Given the description of an element on the screen output the (x, y) to click on. 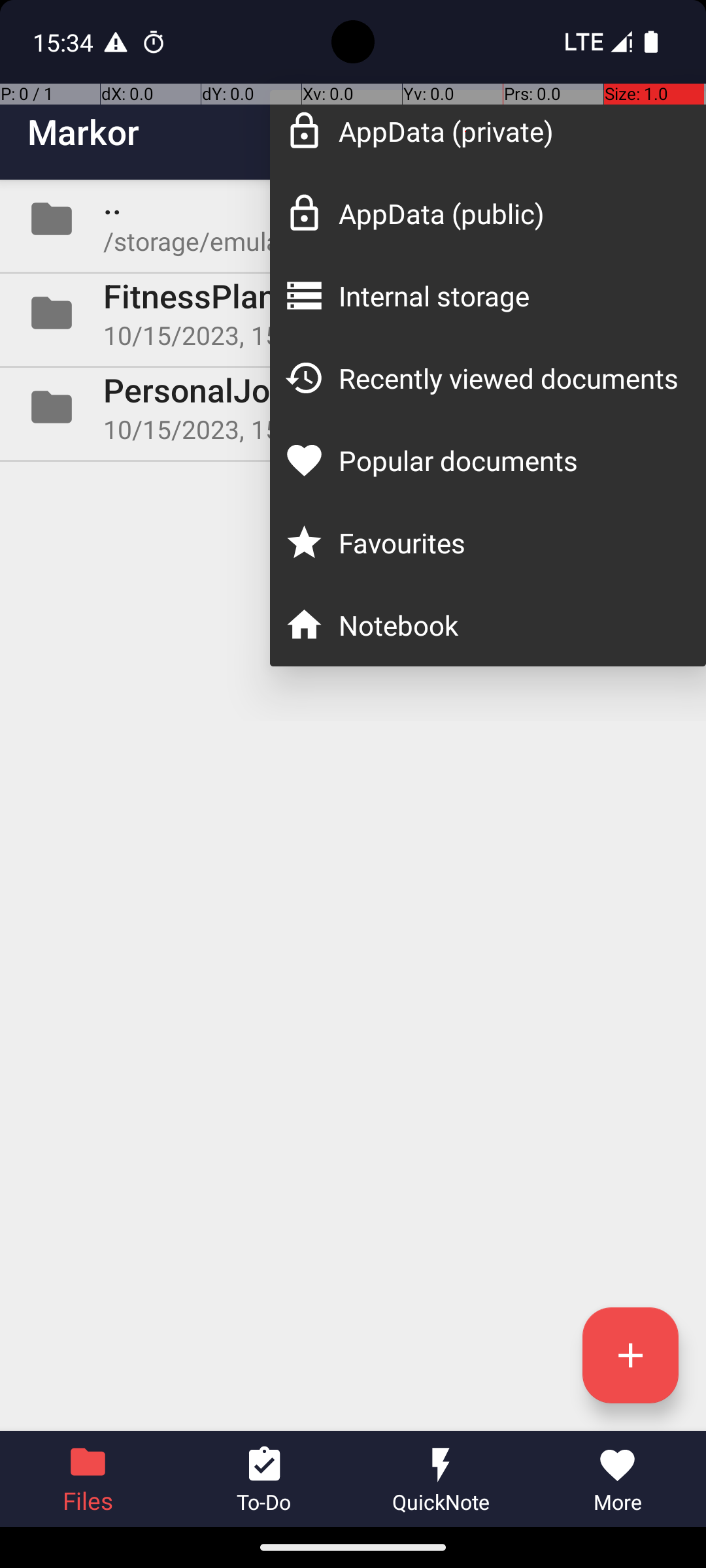
AppData (private) Element type: android.widget.TextView (508, 130)
AppData (public) Element type: android.widget.TextView (508, 212)
Internal storage Element type: android.widget.TextView (508, 295)
Recently viewed documents Element type: android.widget.TextView (508, 377)
Popular documents Element type: android.widget.TextView (508, 459)
Favourites Element type: android.widget.TextView (508, 542)
Notebook Element type: android.widget.TextView (508, 624)
